Given the description of an element on the screen output the (x, y) to click on. 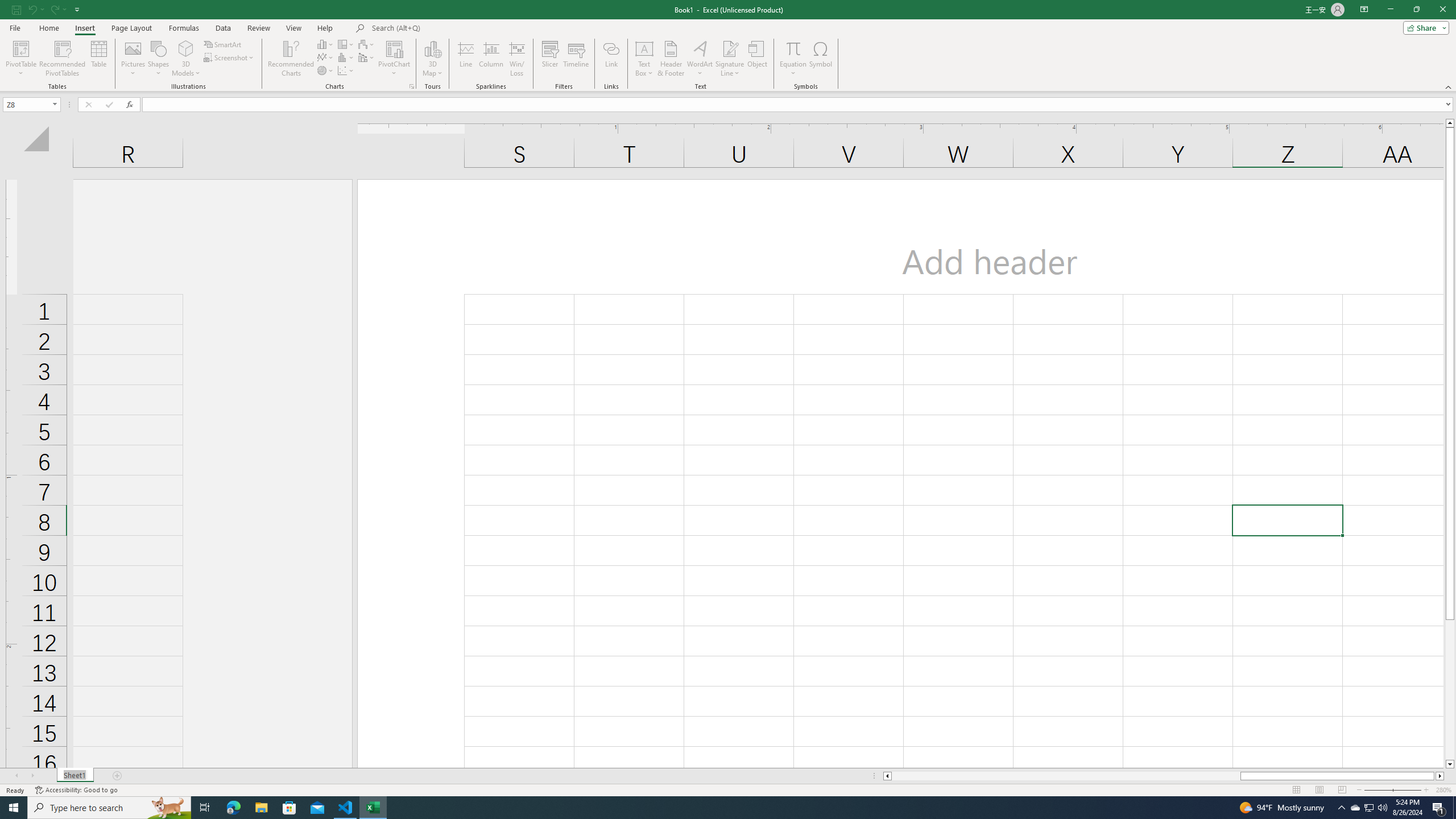
PivotTable (20, 48)
Insert Waterfall, Funnel, Stock, Surface, or Radar Chart (366, 44)
Insert Combo Chart (366, 56)
Text Box (643, 58)
Shapes (158, 58)
3D Models (186, 58)
